Given the description of an element on the screen output the (x, y) to click on. 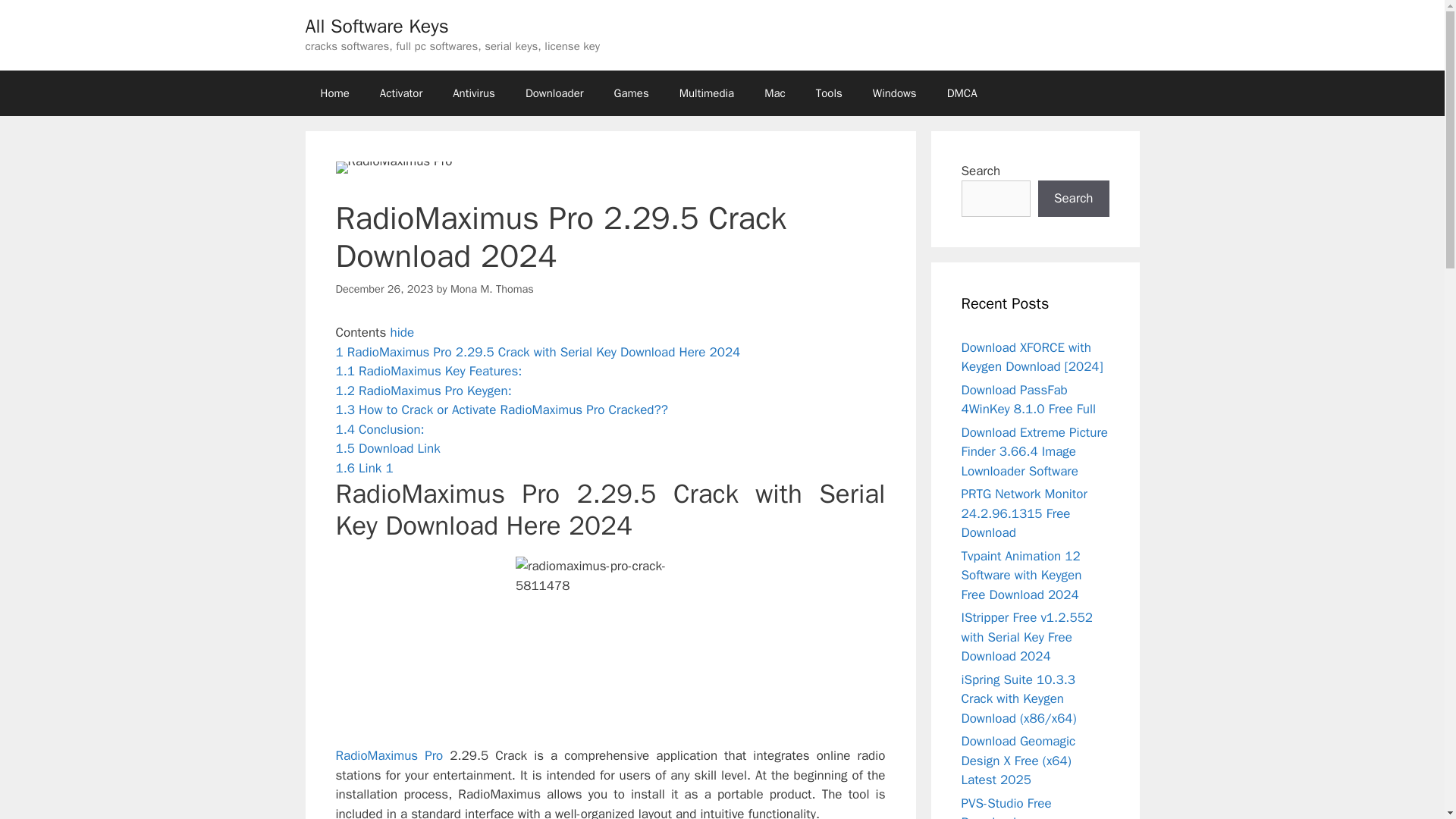
Tools (828, 92)
Mona M. Thomas (491, 288)
DMCA (961, 92)
hide (401, 332)
Home (334, 92)
1.3 How to Crack or Activate RadioMaximus Pro Cracked?? (500, 409)
Windows (894, 92)
Antivirus (474, 92)
1.2 RadioMaximus Pro Keygen: (422, 390)
All Software Keys (376, 25)
